Given the description of an element on the screen output the (x, y) to click on. 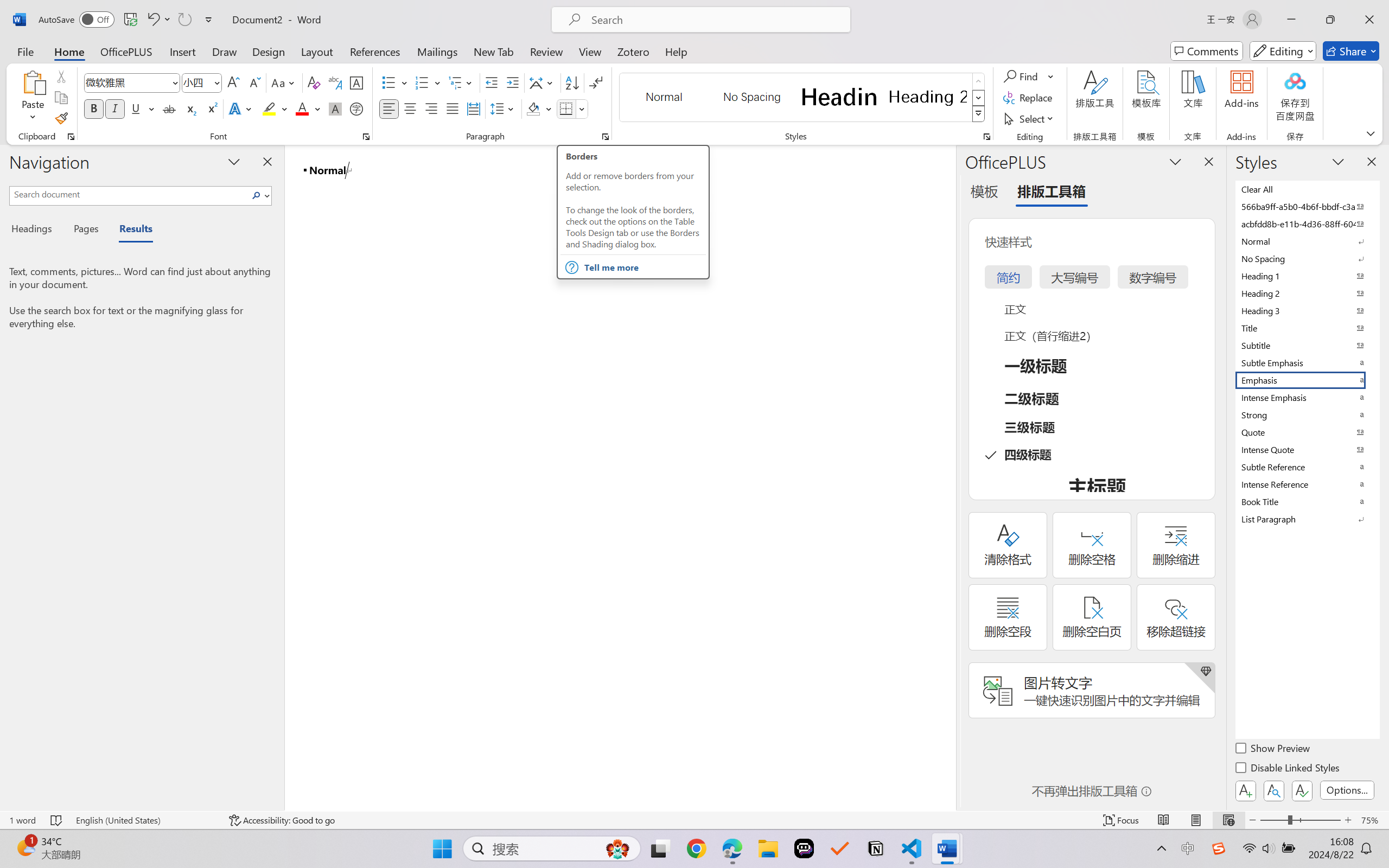
Decrease Indent (491, 82)
acbfdd8b-e11b-4d36-88ff-6049b138f862 (1306, 223)
Heading 2 (927, 96)
Intense Emphasis (1306, 397)
Print Layout (1196, 819)
Find (1022, 75)
Book Title (1306, 501)
Align Right (431, 108)
No Spacing (1306, 258)
Increase Indent (512, 82)
